Given the description of an element on the screen output the (x, y) to click on. 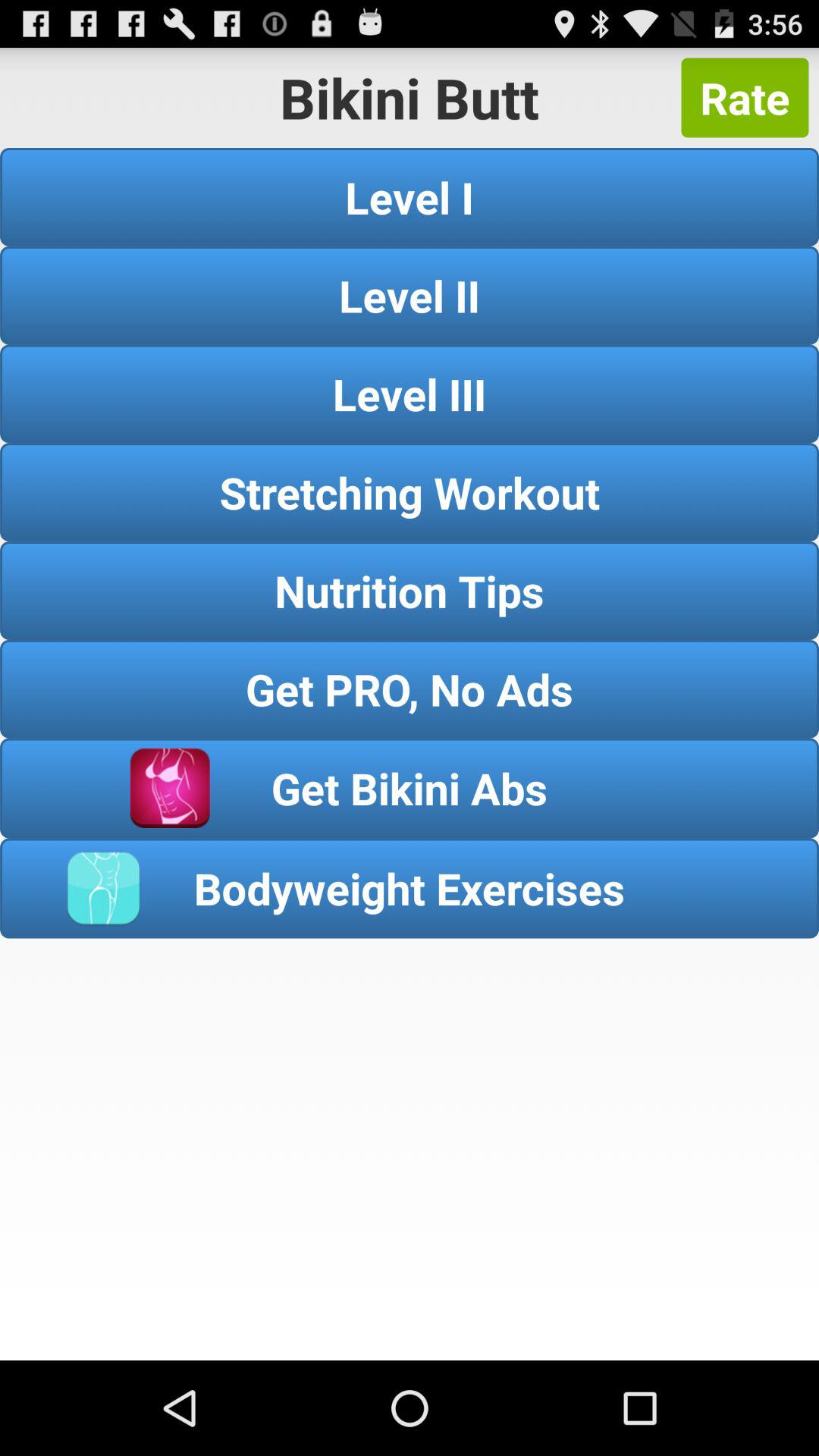
open the level ii item (409, 295)
